Given the description of an element on the screen output the (x, y) to click on. 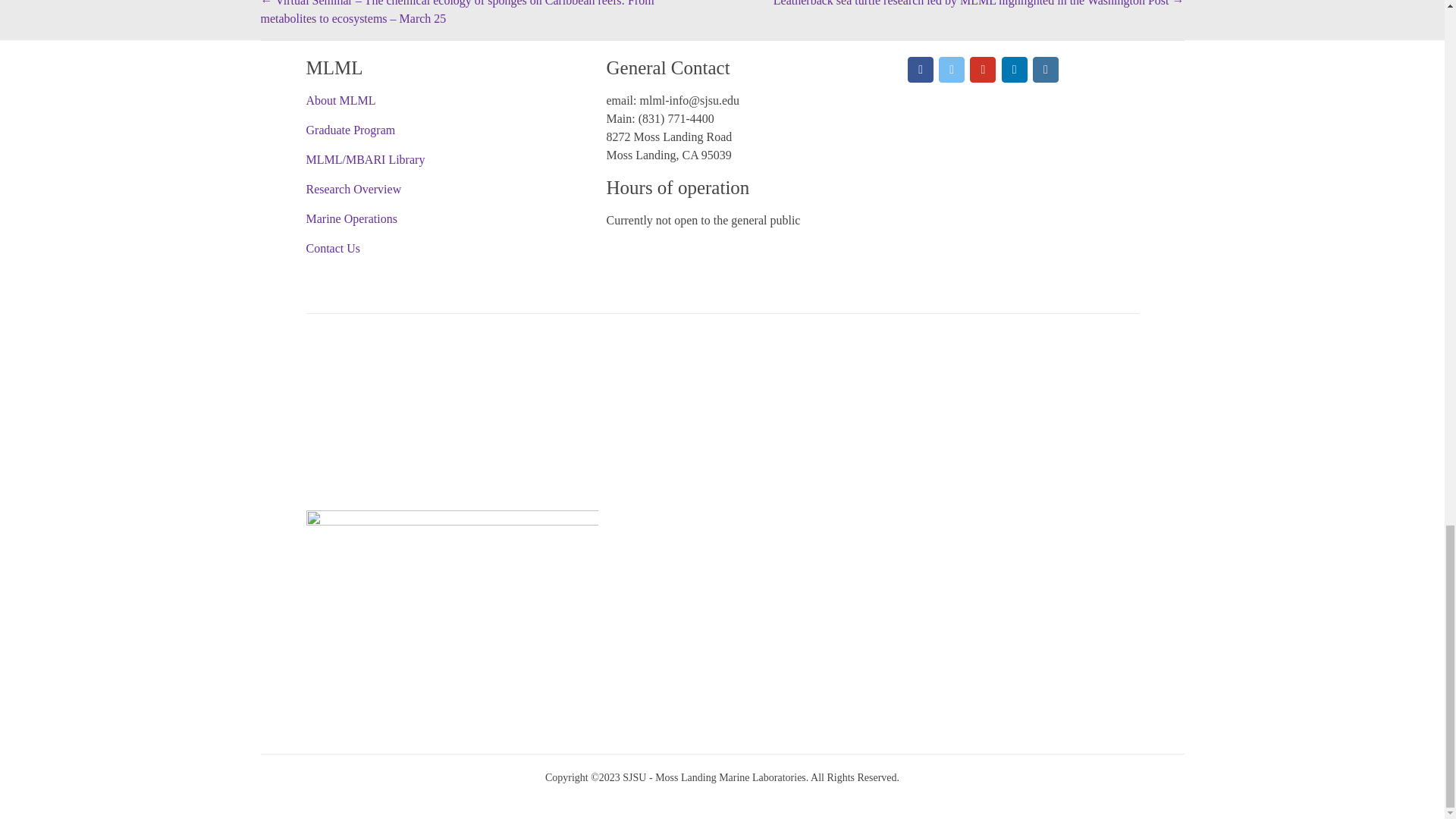
Moss Landing Marine Laboratories on Youtube (982, 69)
Moss Landing Marine Laboratories on Instagram (1045, 69)
San Jose State University: MLML's Administrative Campus (451, 539)
Moss Landing Marine Laboratories on Facebook (920, 69)
Moss Landing Marine Laboratories on X Twitter (951, 69)
Moss Landing Marine Laboratories on Linkedin (1014, 69)
